Given the description of an element on the screen output the (x, y) to click on. 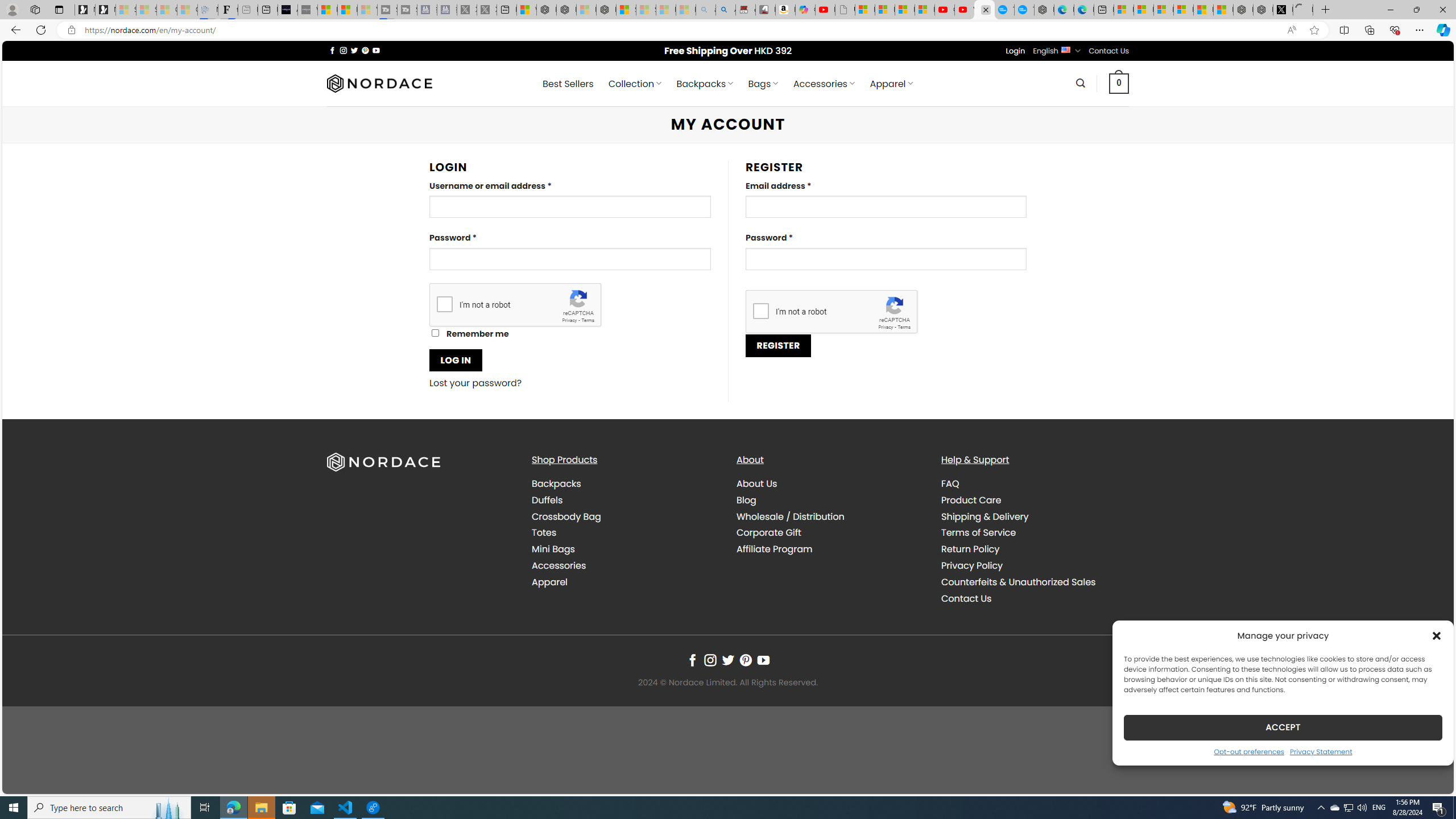
Blog (746, 499)
Return Policy (970, 549)
Wholesale / Distribution (830, 516)
Privacy Statement (1321, 750)
Counterfeits & Unauthorized Sales (1034, 581)
